Given the description of an element on the screen output the (x, y) to click on. 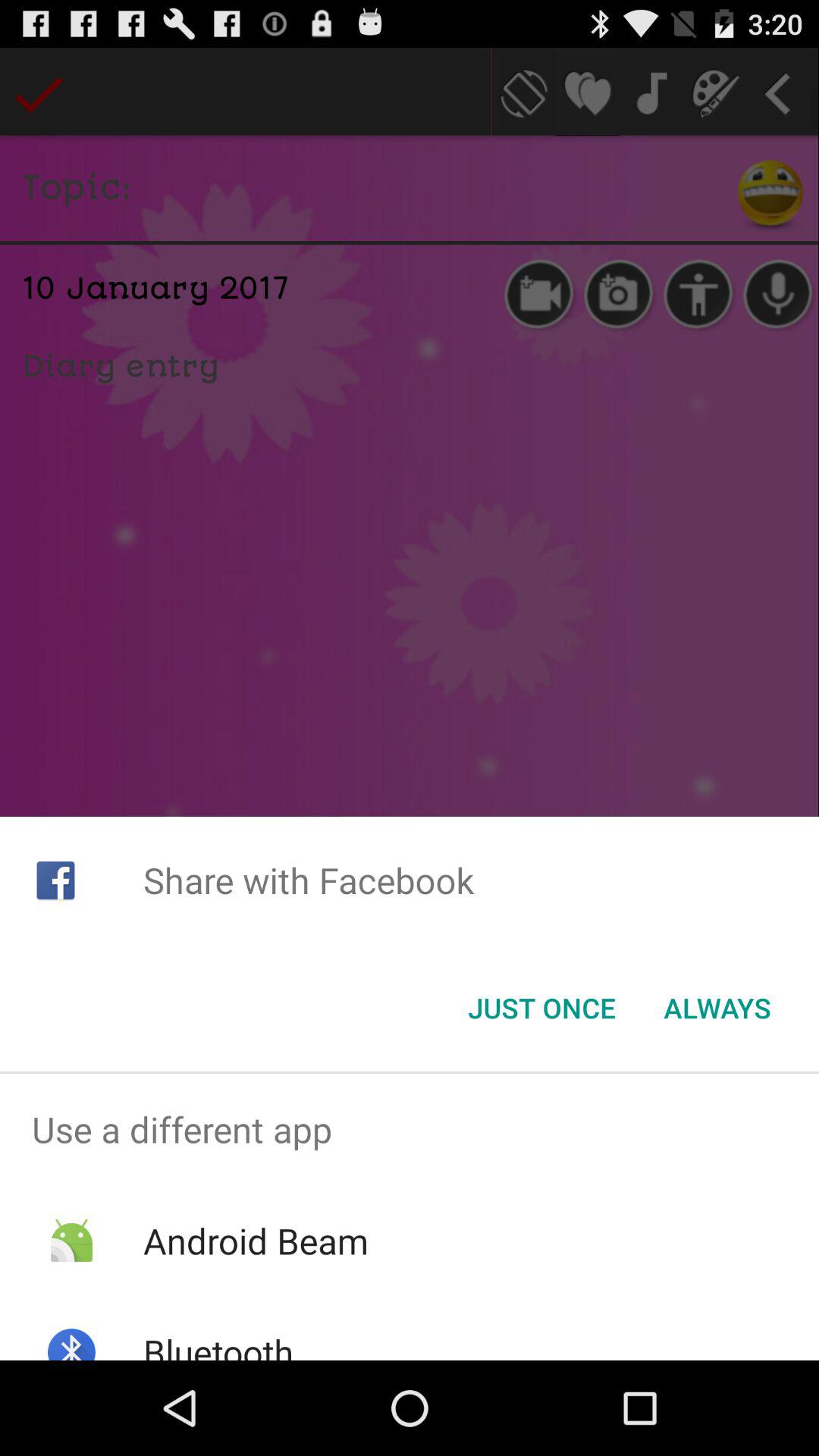
click always at the bottom right corner (717, 1007)
